Given the description of an element on the screen output the (x, y) to click on. 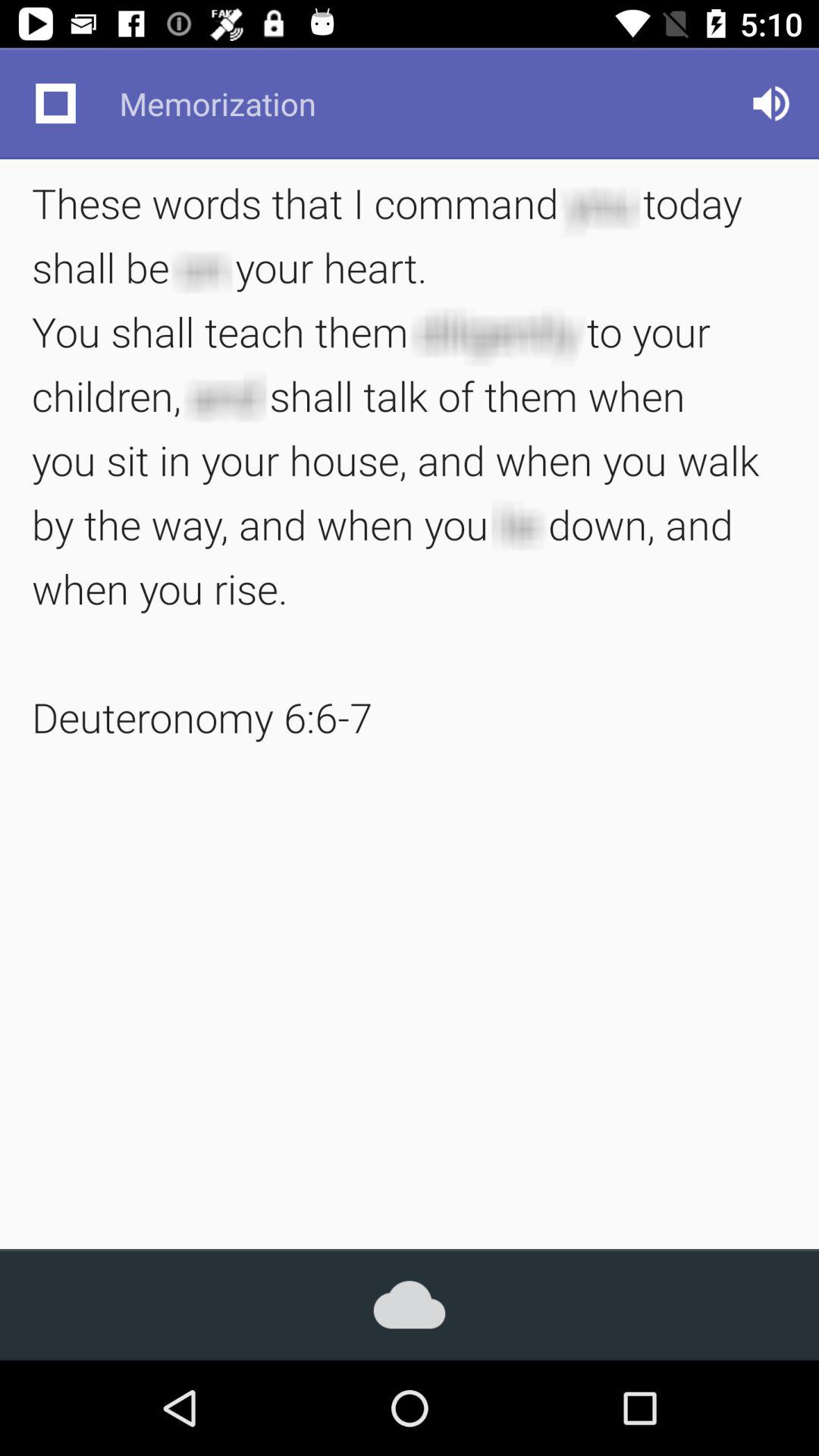
open icon at the top right corner (771, 103)
